Given the description of an element on the screen output the (x, y) to click on. 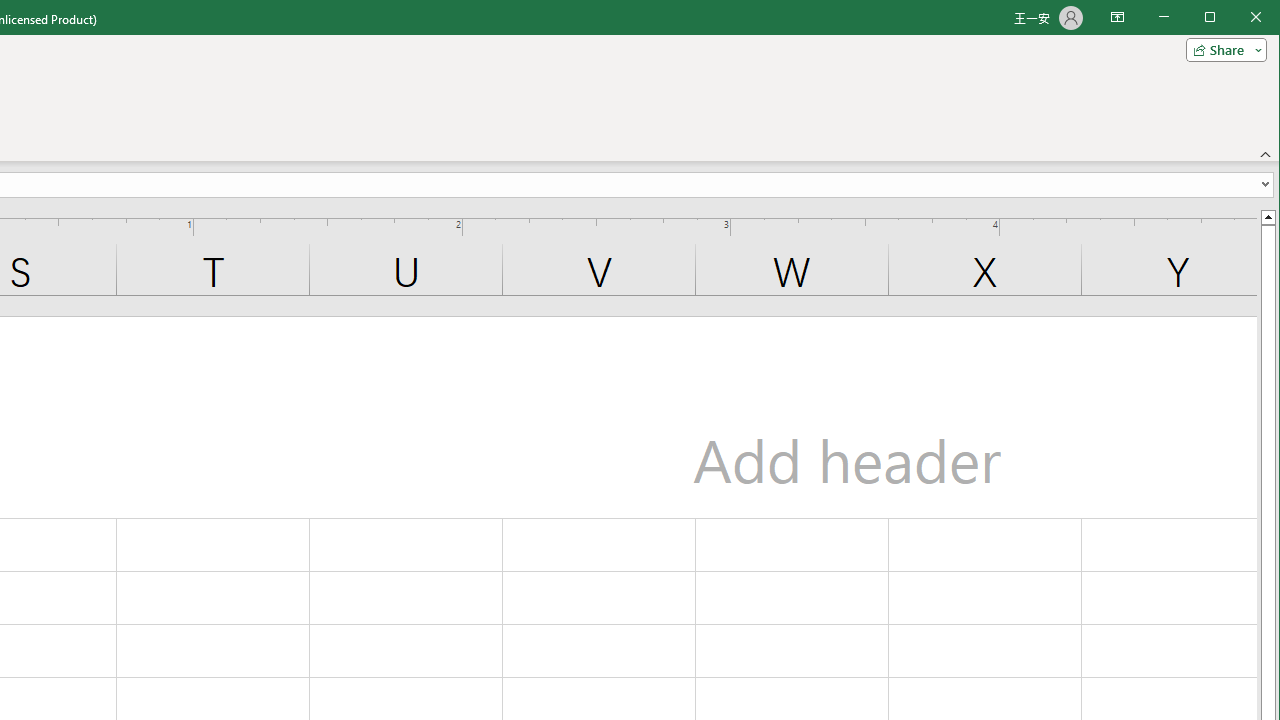
Maximize (1238, 18)
